Given the description of an element on the screen output the (x, y) to click on. 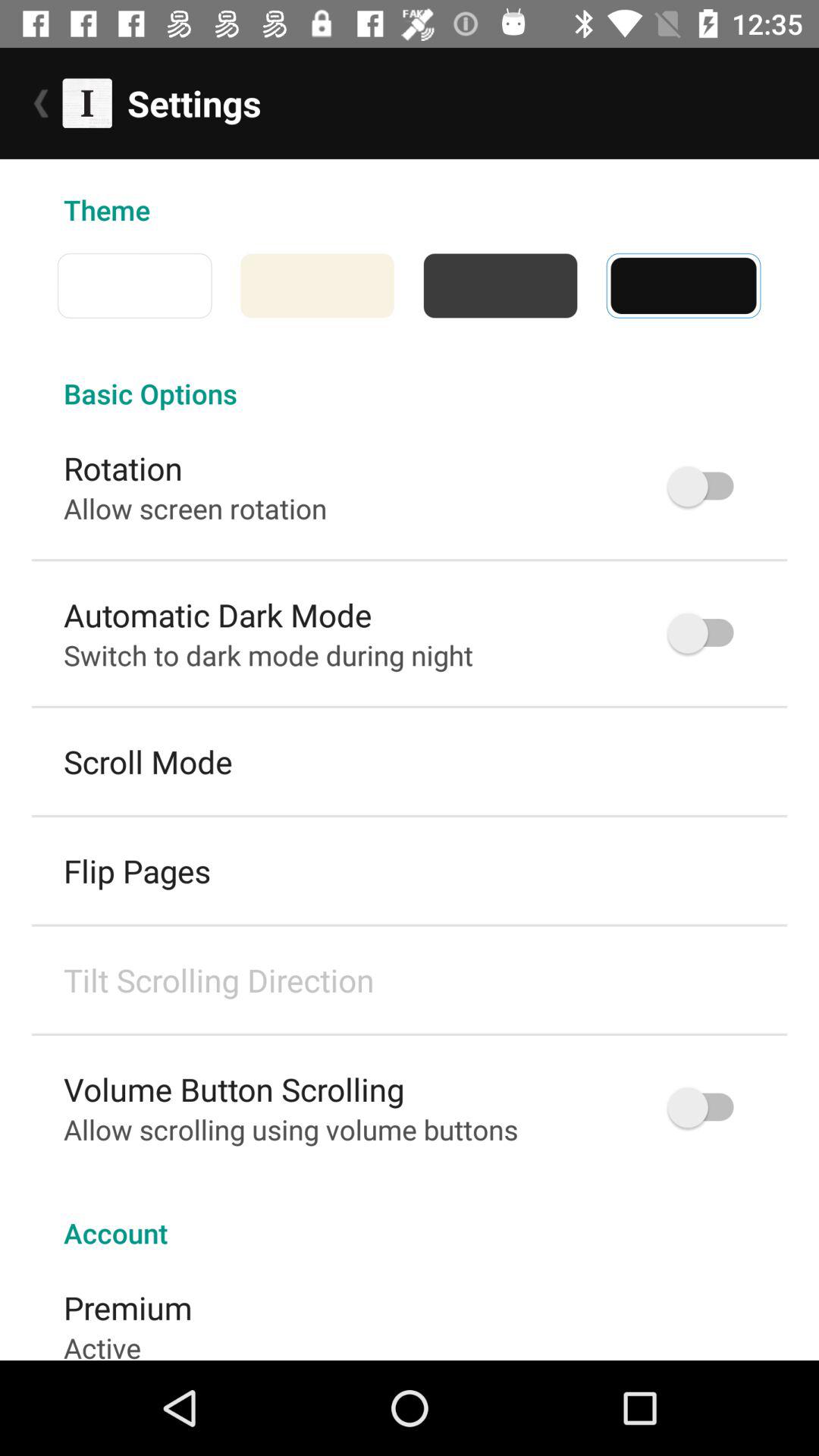
turn on the item above the basic options icon (43, 285)
